Given the description of an element on the screen output the (x, y) to click on. 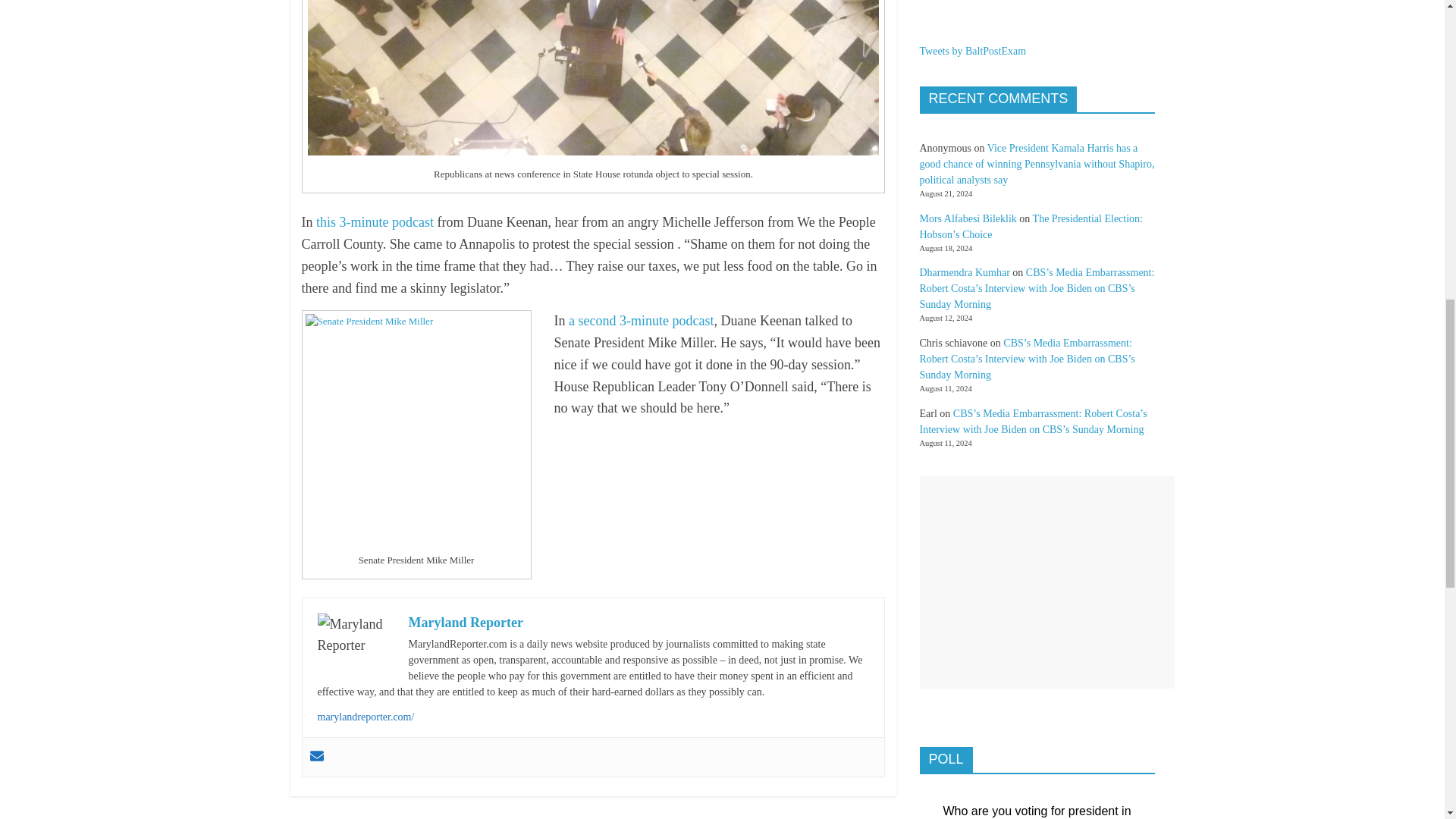
this 3-minute podcast (374, 222)
a second 3-minute podcast (641, 320)
republicans (593, 77)
Tweets by BaltPostExam (972, 50)
Maryland Reporter (464, 622)
Miller-gaggle (415, 427)
